Given the description of an element on the screen output the (x, y) to click on. 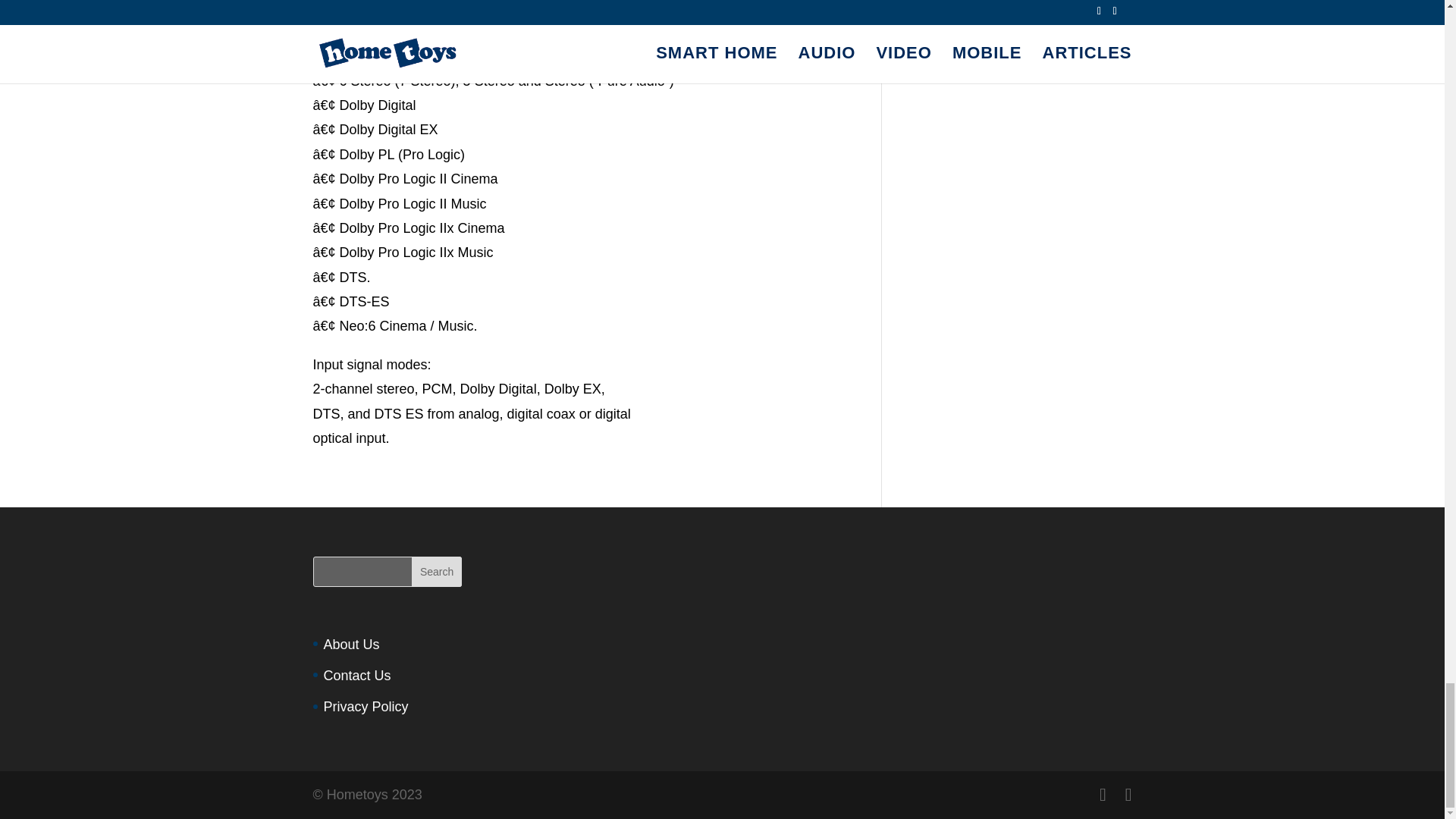
Contact Us (356, 675)
About Us (350, 644)
Privacy Policy (365, 706)
Search (436, 571)
